Given the description of an element on the screen output the (x, y) to click on. 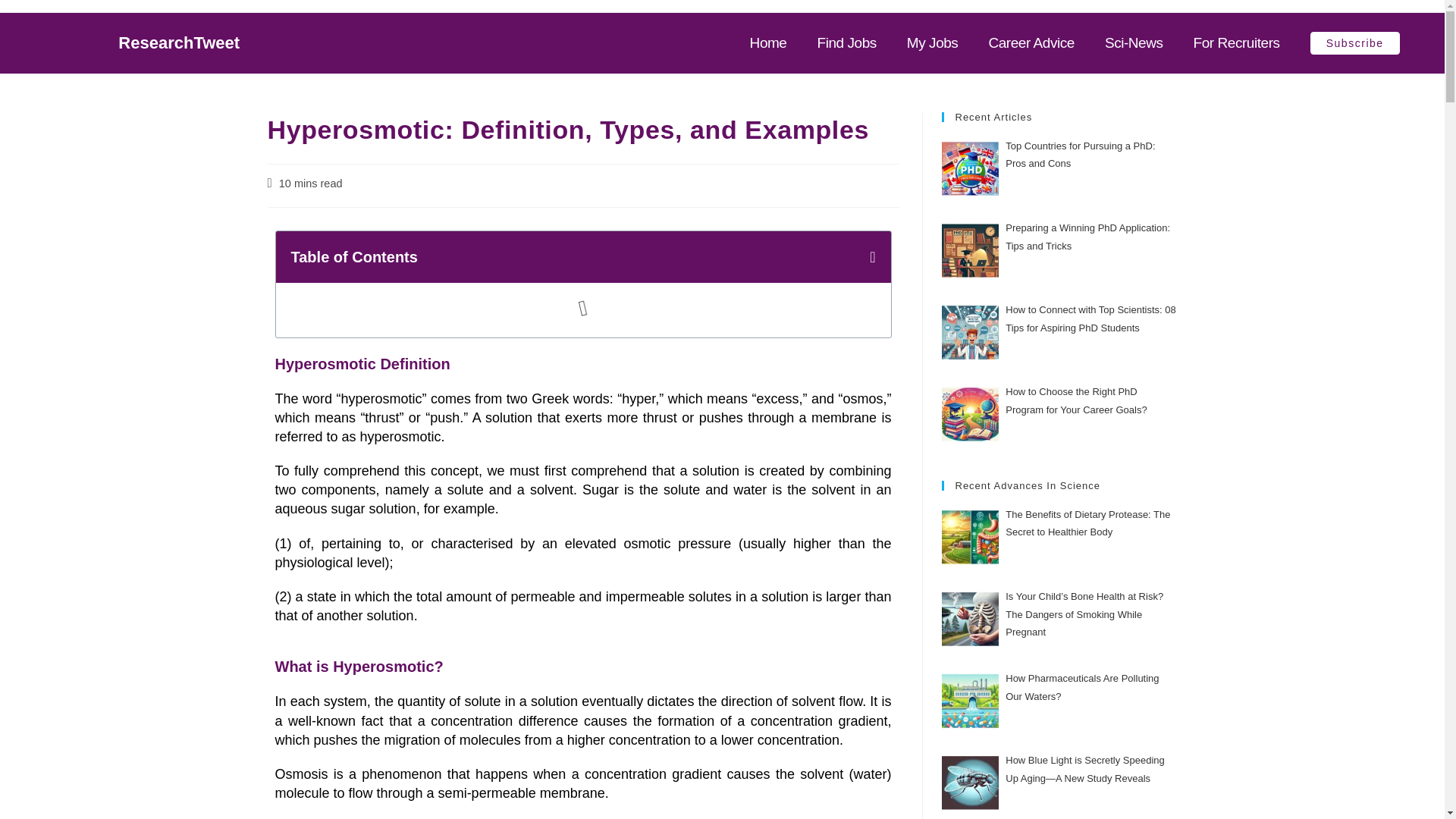
ResearchTweet (178, 42)
Home (768, 43)
Sci-News (1134, 43)
For Recruiters (1236, 43)
Career Advice (1031, 43)
My Jobs (932, 43)
Subscribe (1354, 42)
Find Jobs (846, 43)
